Given the description of an element on the screen output the (x, y) to click on. 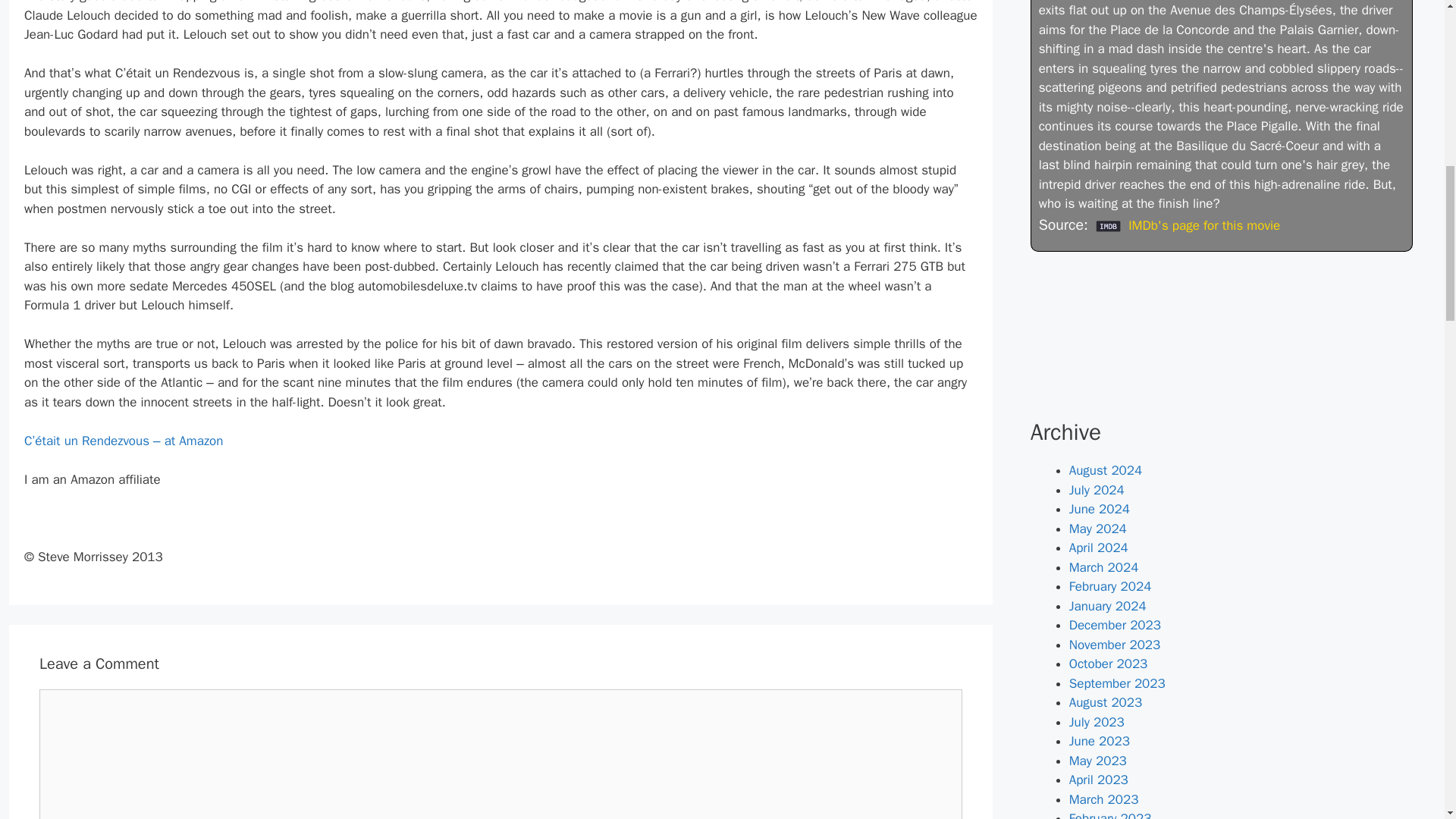
August 2024 (1104, 470)
Go to IMDb website for this movie (1200, 225)
  IMDb's page for this movie (1200, 225)
